Given the description of an element on the screen output the (x, y) to click on. 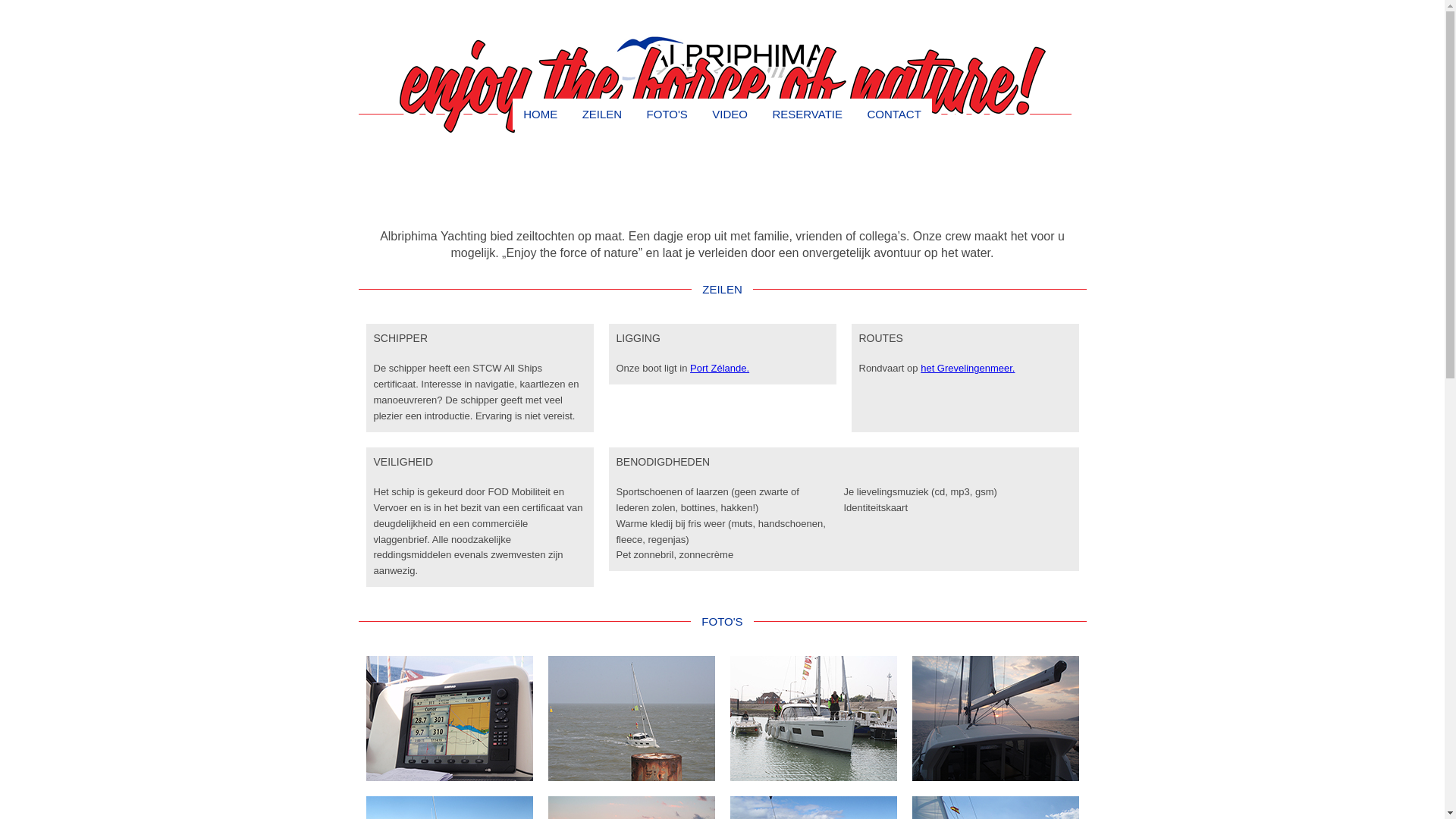
VIDEO Element type: text (729, 113)
CONTACT Element type: text (893, 113)
RESERVATIE Element type: text (807, 113)
ZEILEN Element type: text (602, 113)
HOME Element type: text (539, 113)
Albriphima Element type: text (722, 60)
het Grevelingenmeer. Element type: text (967, 367)
FOTO'S Element type: text (667, 113)
